Given the description of an element on the screen output the (x, y) to click on. 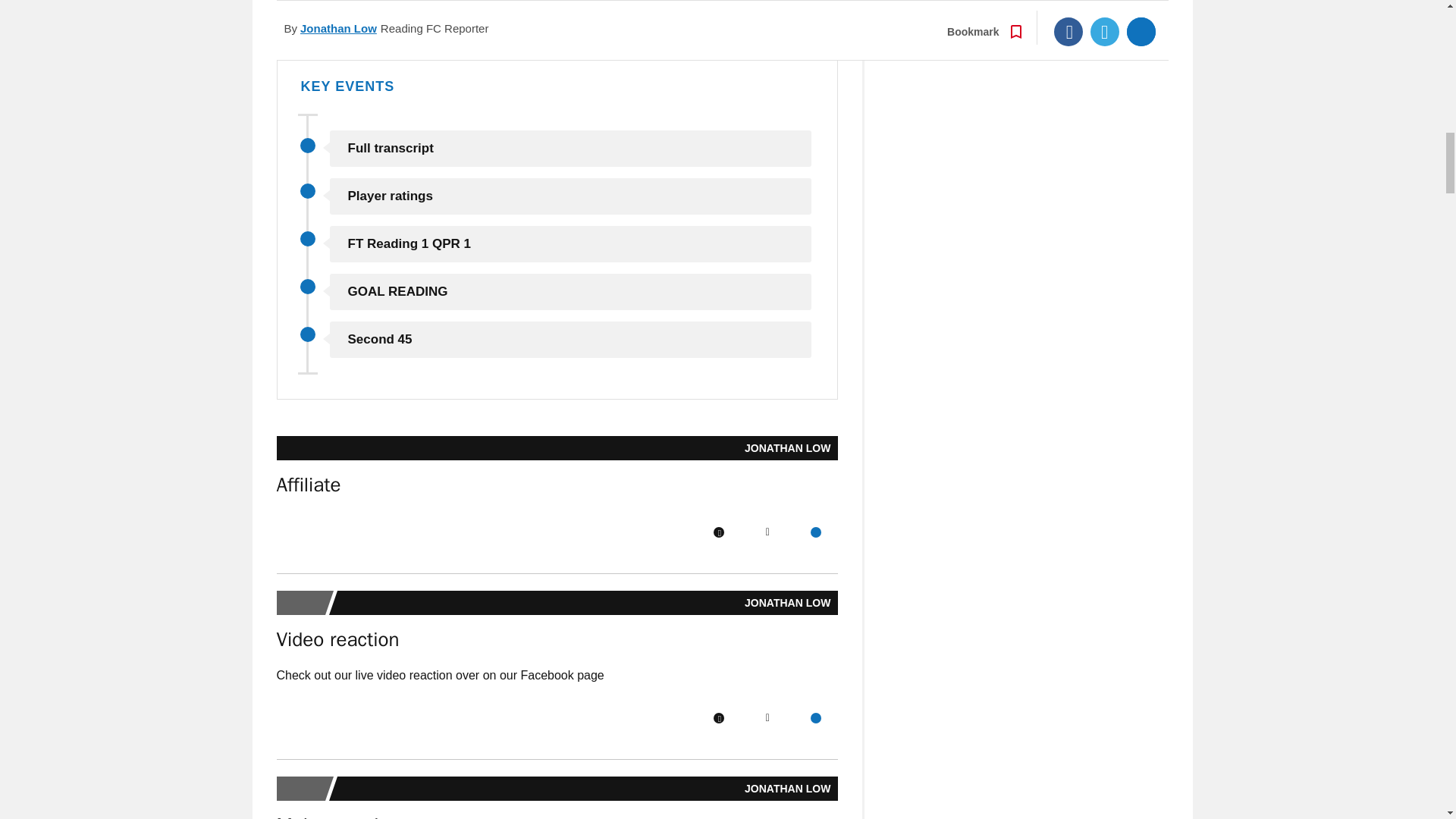
Twitter (767, 717)
Facebook (718, 717)
Facebook (718, 532)
Twitter (767, 532)
